Given the description of an element on the screen output the (x, y) to click on. 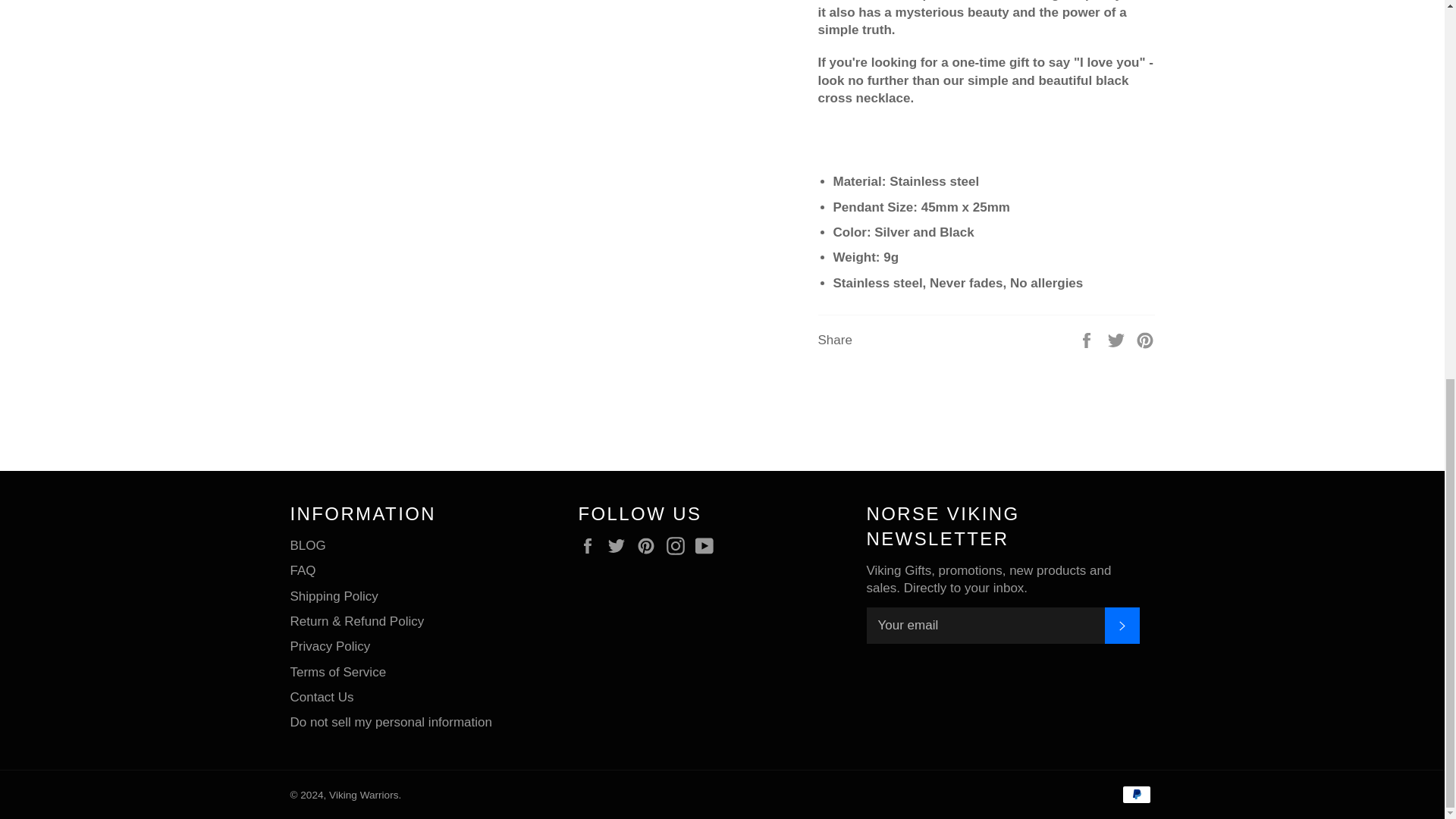
Viking Warriors on Pinterest (649, 546)
Tweet on Twitter (1117, 339)
Viking Warriors on Instagram (679, 546)
Viking Warriors on Twitter (620, 546)
Pin on Pinterest (1144, 339)
Viking Warriors on YouTube (707, 546)
Viking Warriors on Facebook (591, 546)
Share on Facebook (1088, 339)
